Given the description of an element on the screen output the (x, y) to click on. 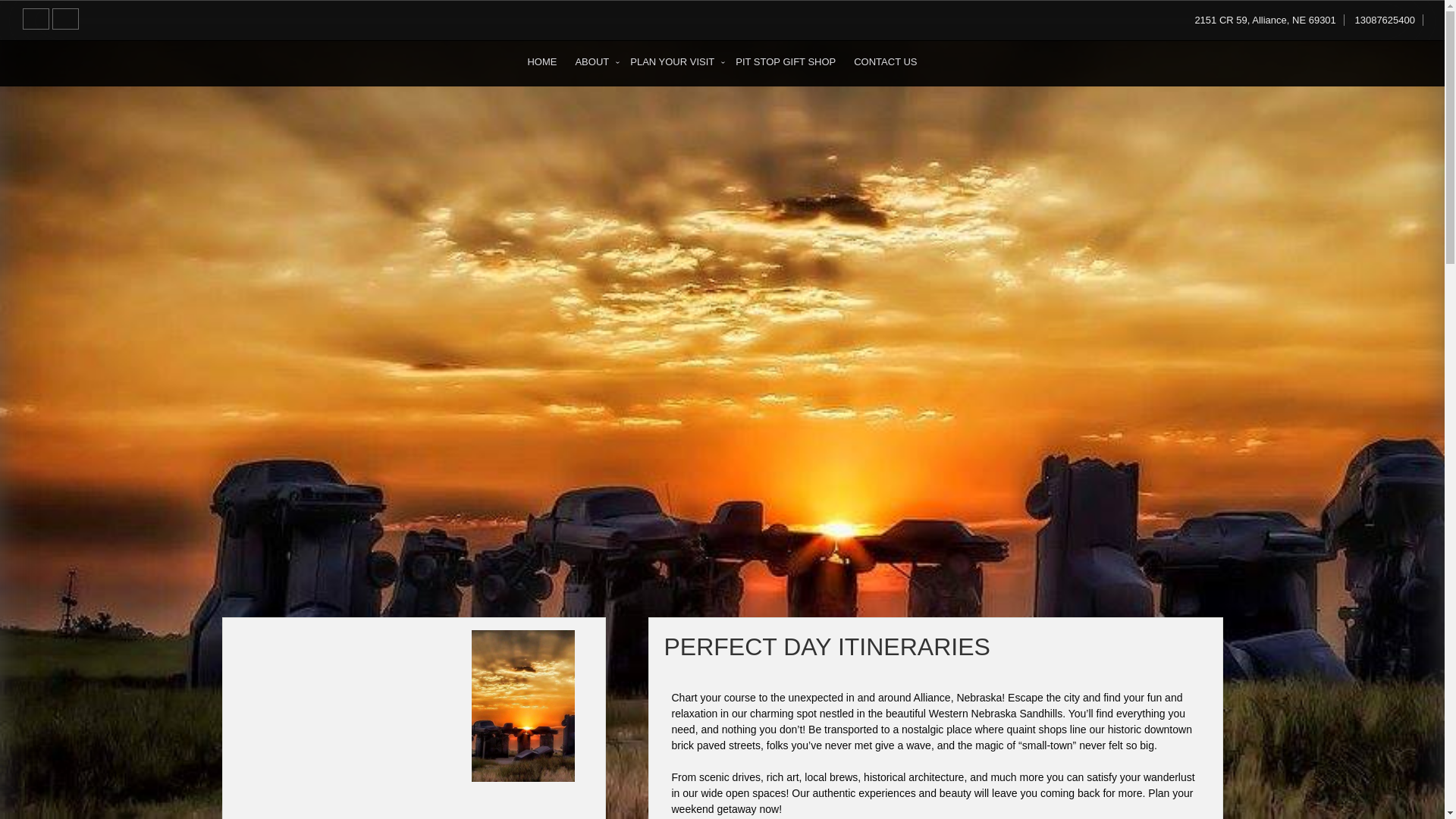
PIT STOP GIFT SHOP (785, 61)
PLAN YOUR VISIT (673, 61)
ABOUT (593, 61)
HOME (542, 61)
CONTACT US (885, 61)
